Given the description of an element on the screen output the (x, y) to click on. 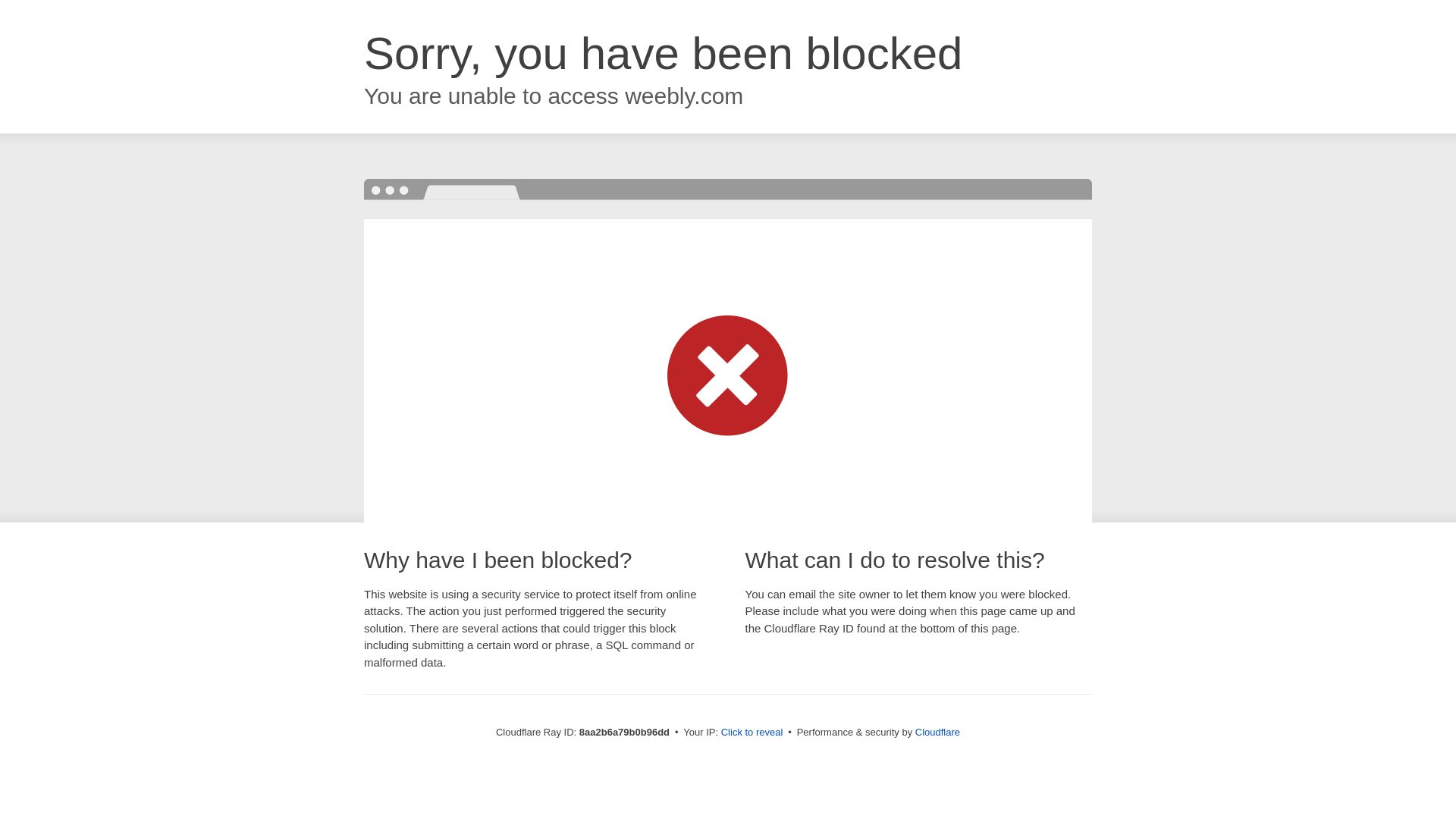
Click to reveal (751, 732)
Cloudflare (937, 731)
